Given the description of an element on the screen output the (x, y) to click on. 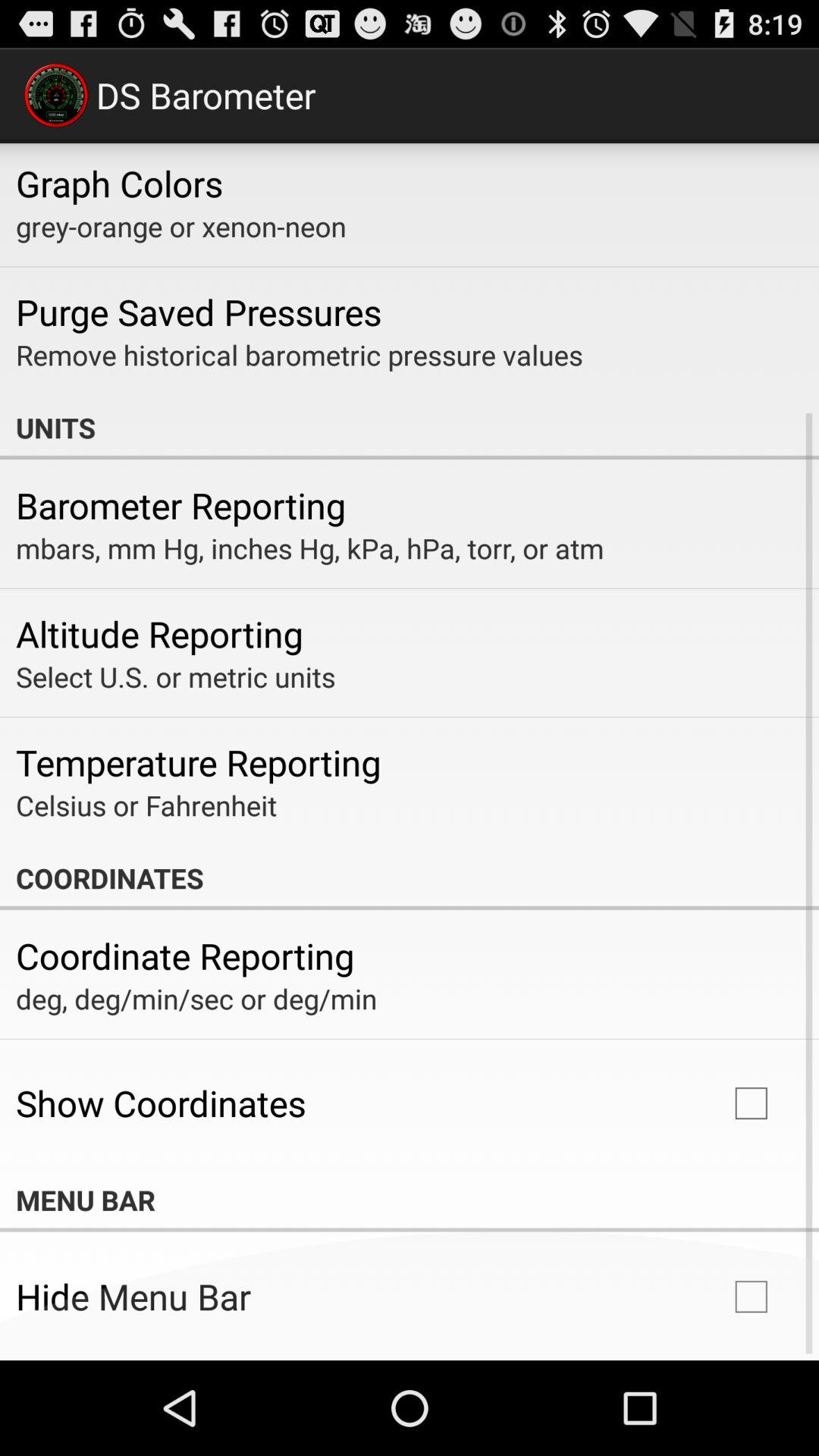
launch temperature reporting (198, 762)
